Given the description of an element on the screen output the (x, y) to click on. 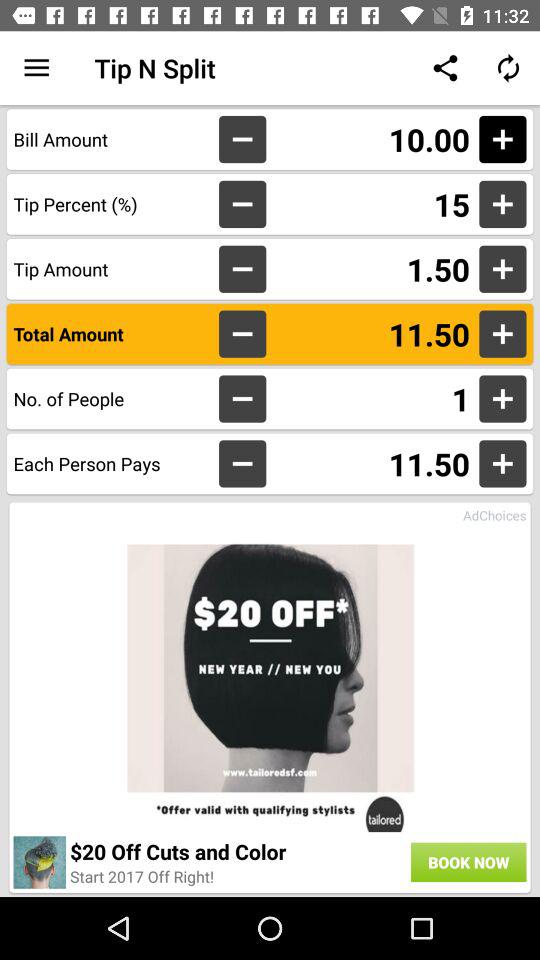
launch the item next to book now item (142, 876)
